Given the description of an element on the screen output the (x, y) to click on. 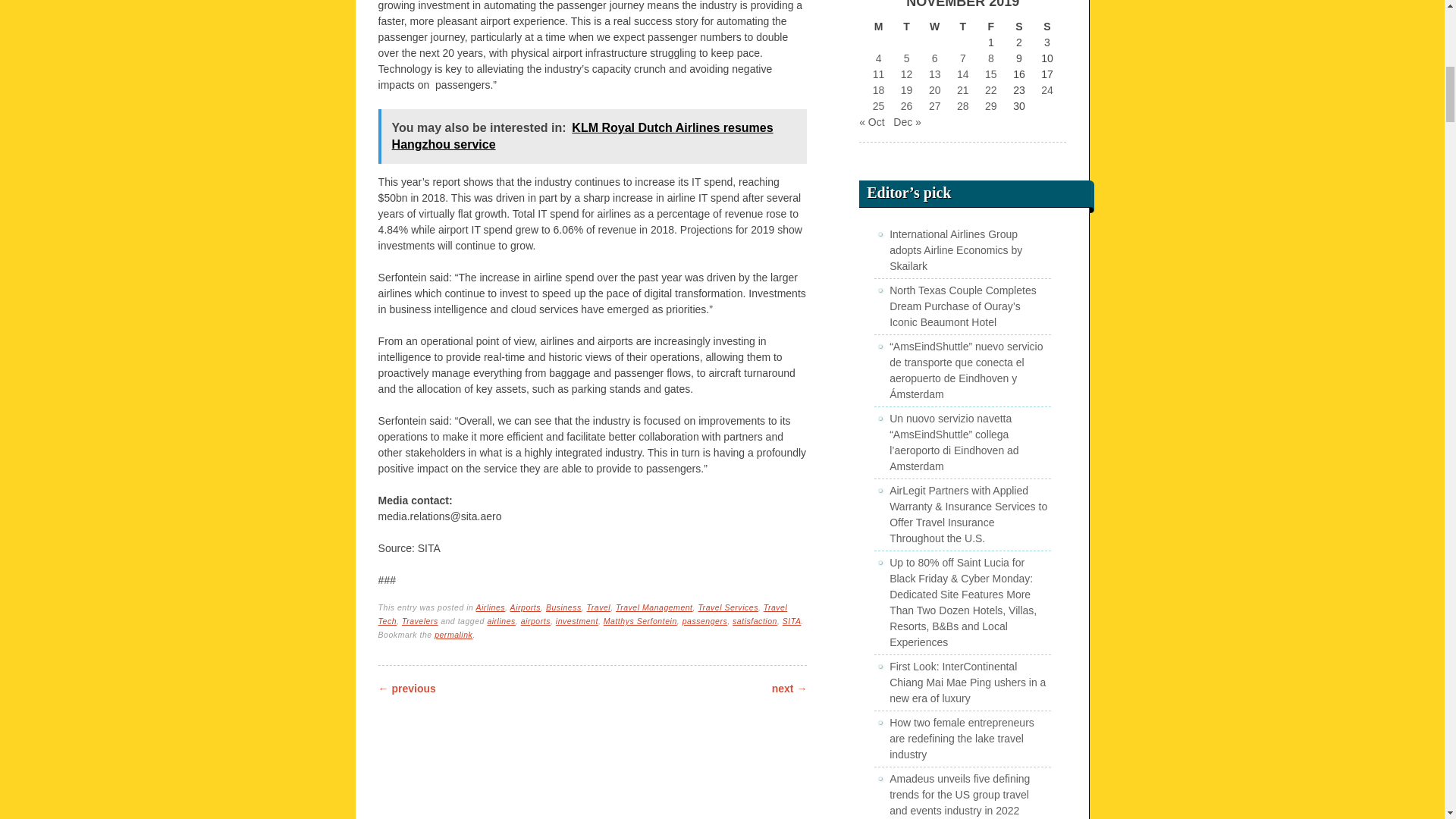
Wednesday (934, 26)
Friday (990, 26)
Saturday (1018, 26)
Thursday (962, 26)
Monday (878, 26)
Tuesday (906, 26)
